Given the description of an element on the screen output the (x, y) to click on. 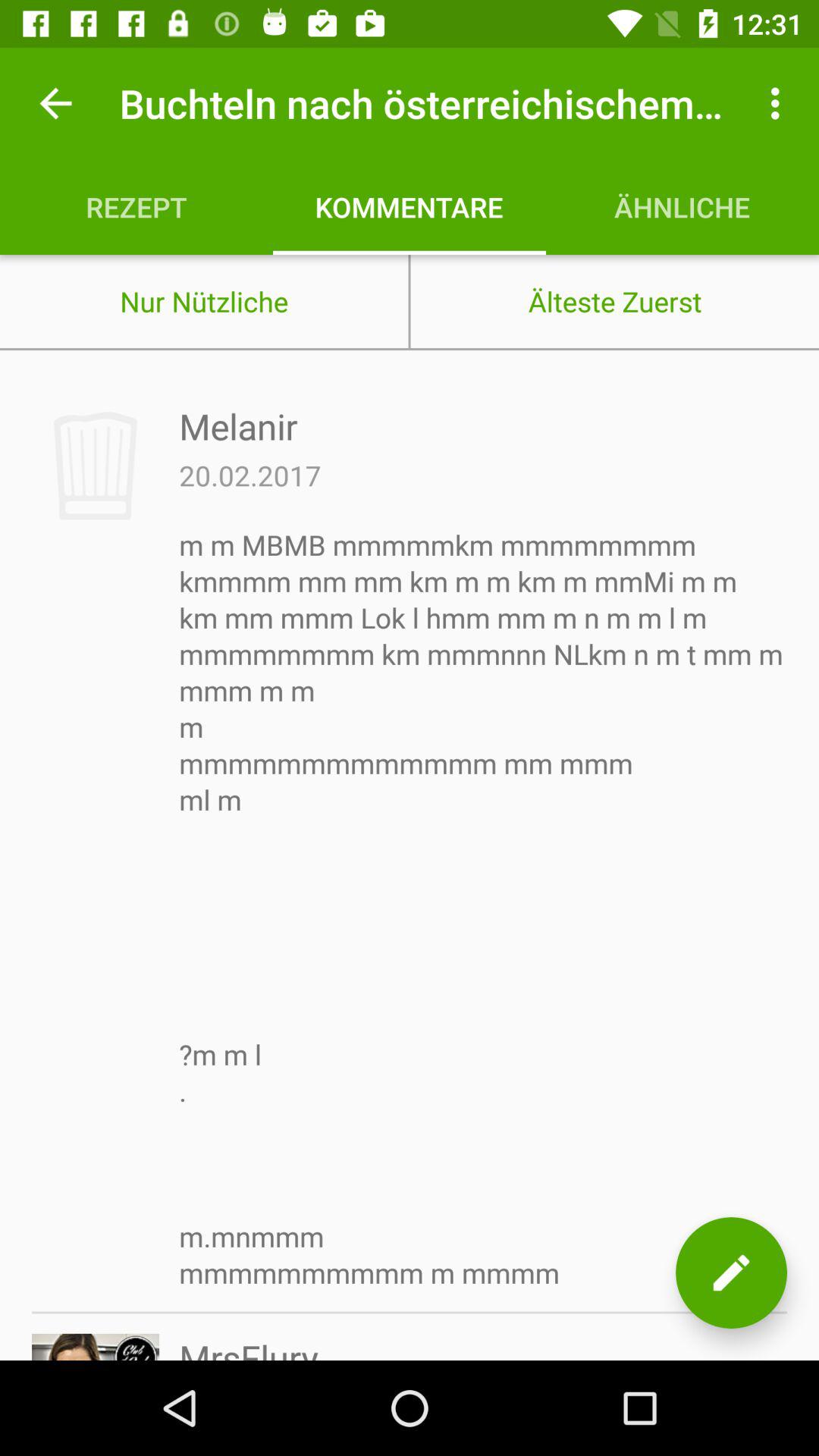
tap icon above m m mbmb item (250, 475)
